Given the description of an element on the screen output the (x, y) to click on. 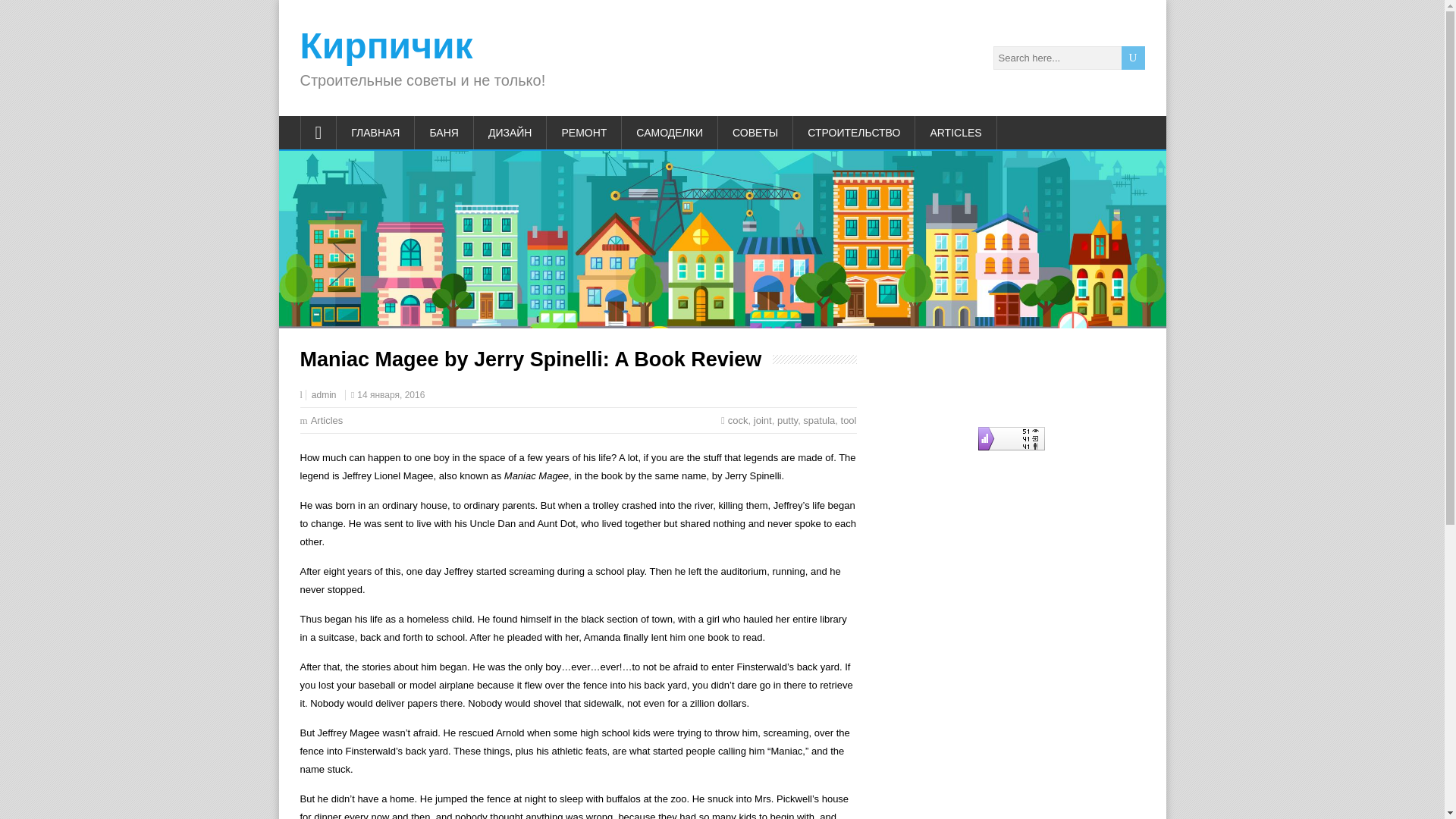
U (1132, 57)
putty (787, 419)
tool (849, 419)
ARTICLES (955, 132)
spatula (818, 419)
cock (738, 419)
admin (323, 394)
U (1132, 57)
Articles (327, 419)
U (1132, 57)
joint (762, 419)
